Given the description of an element on the screen output the (x, y) to click on. 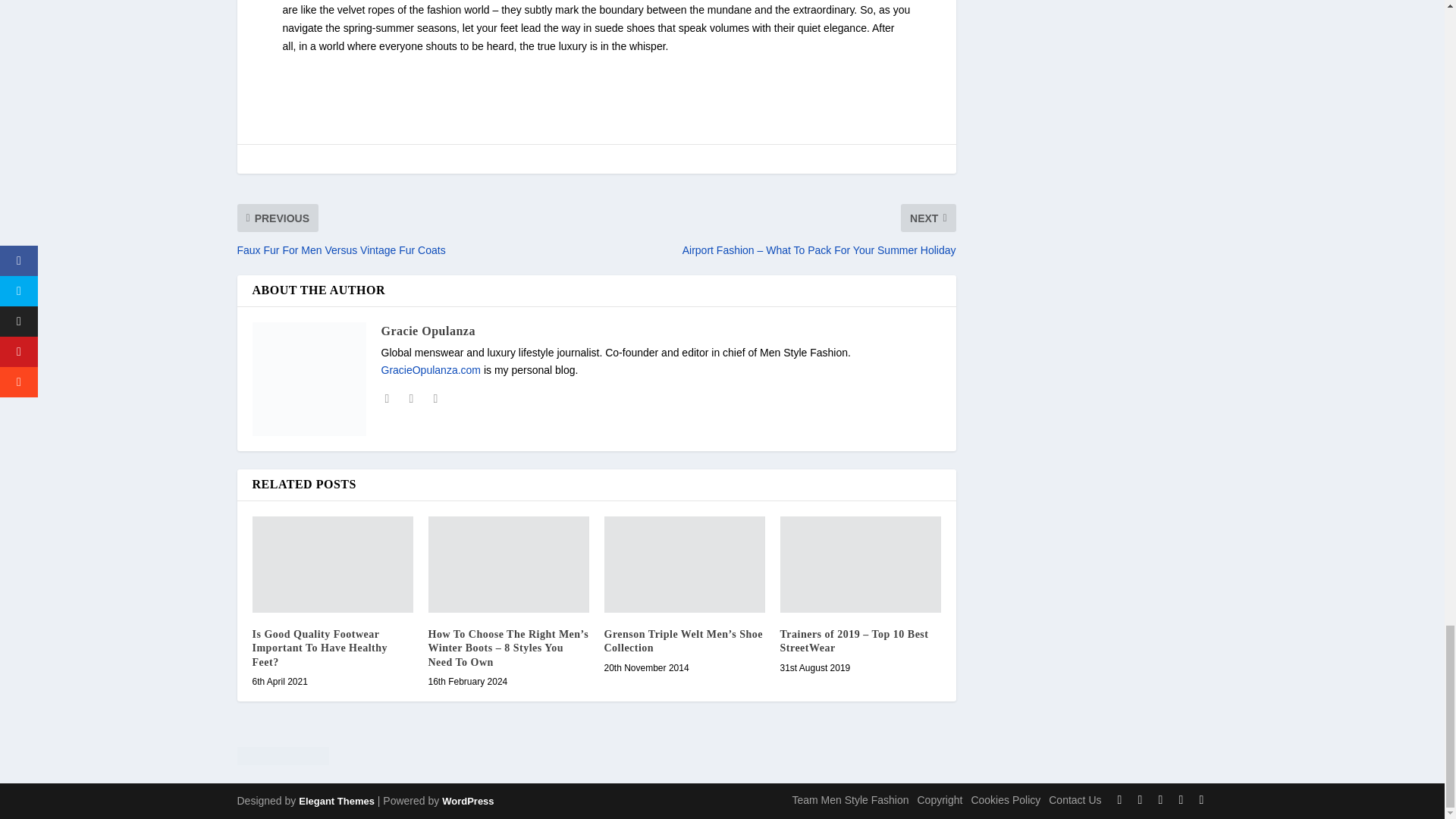
Is Good Quality Footwear Important To Have Healthy Feet? (331, 564)
DMCA.com Protection Status (595, 758)
View all posts by Gracie Opulanza (427, 330)
